Given the description of an element on the screen output the (x, y) to click on. 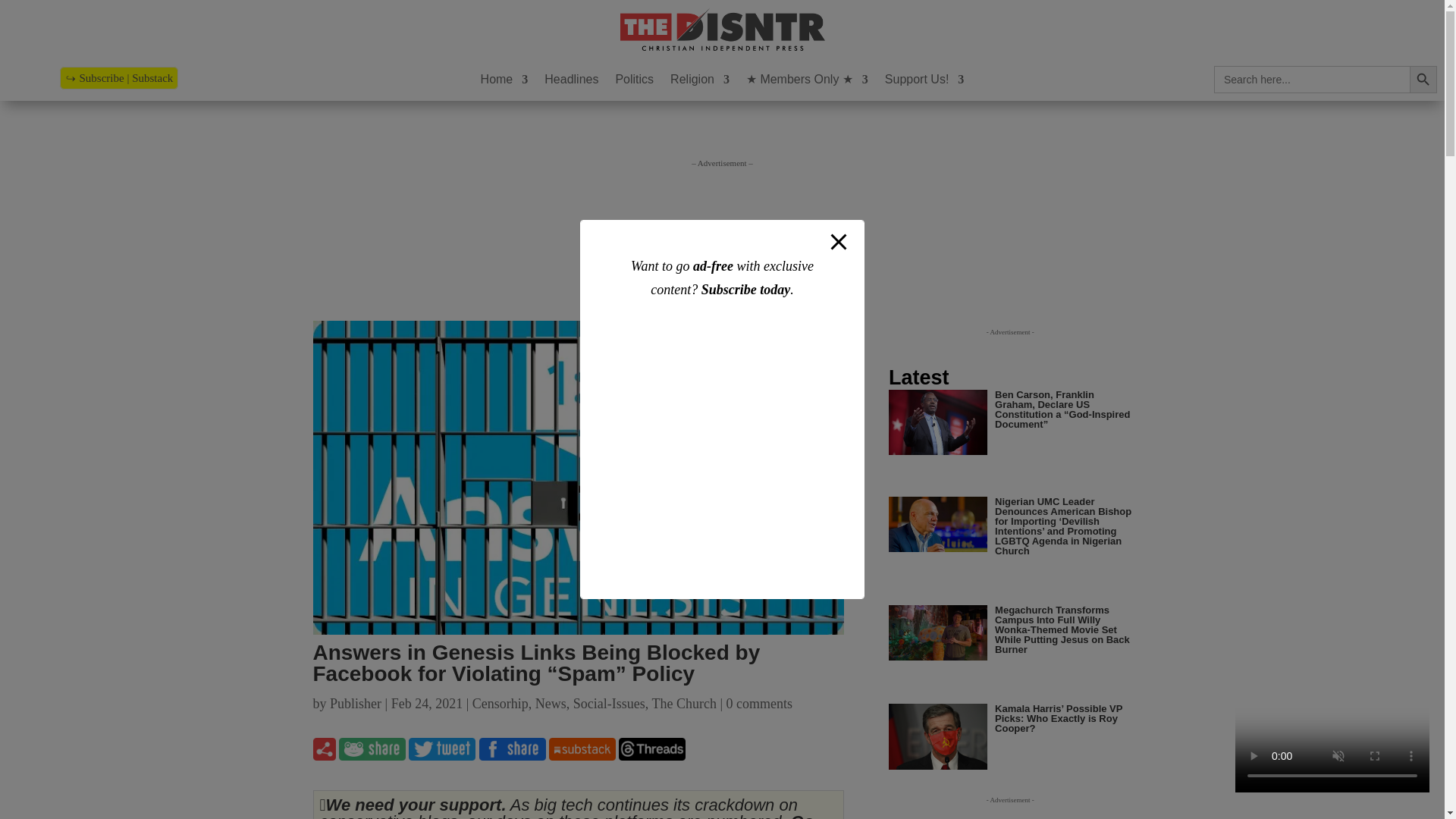
Religion (699, 82)
Share to Substack Notes (581, 752)
Posts by Publisher (355, 703)
Share to FB (512, 752)
Politics (633, 82)
Home (504, 82)
Share to Gab (372, 752)
Headlines (571, 82)
Share to Twitter (442, 752)
Share to Threads (651, 752)
Support Us! (924, 82)
